Given the description of an element on the screen output the (x, y) to click on. 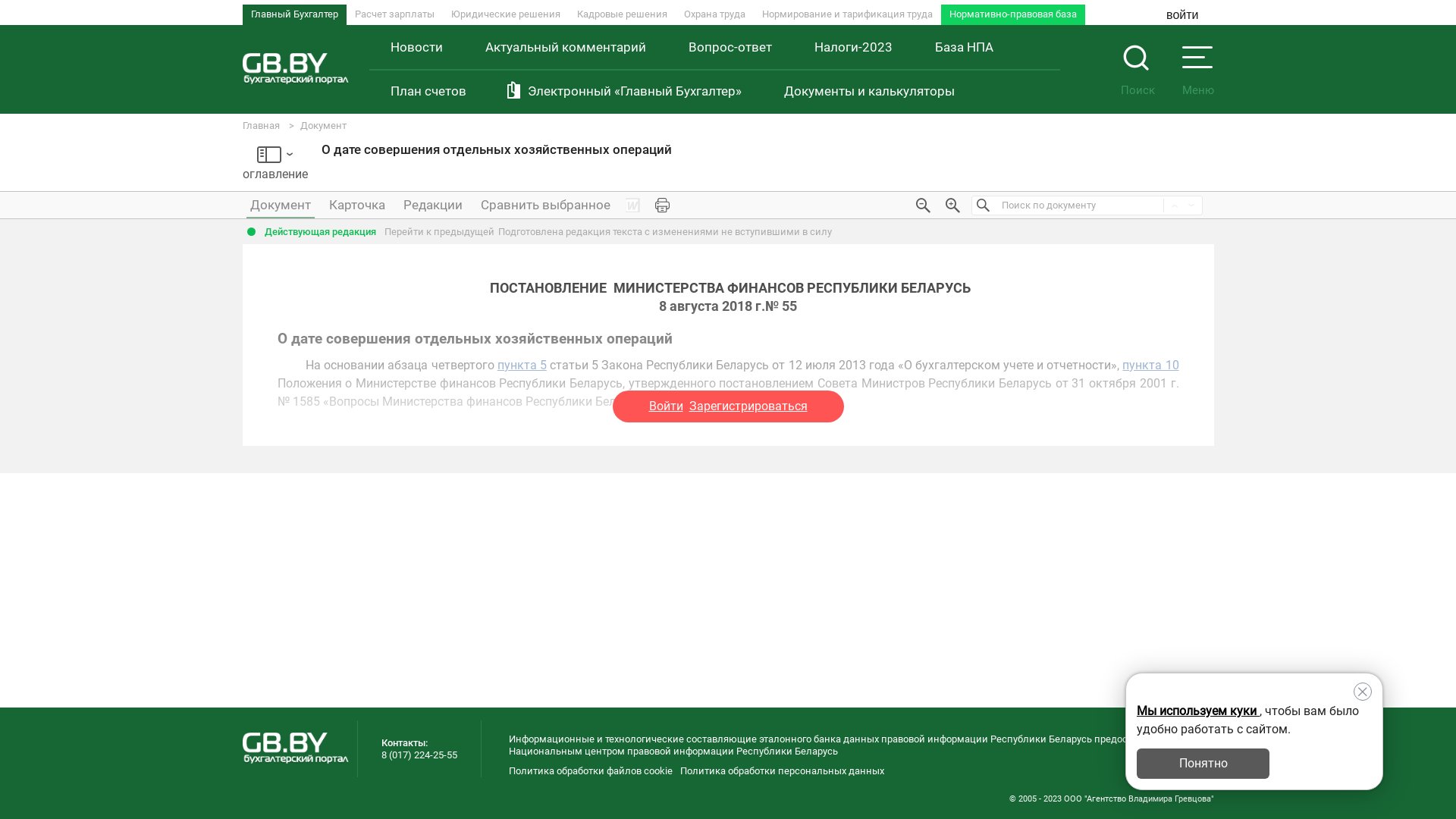
8 (017) 224-25-55 Element type: text (418, 755)
